Given the description of an element on the screen output the (x, y) to click on. 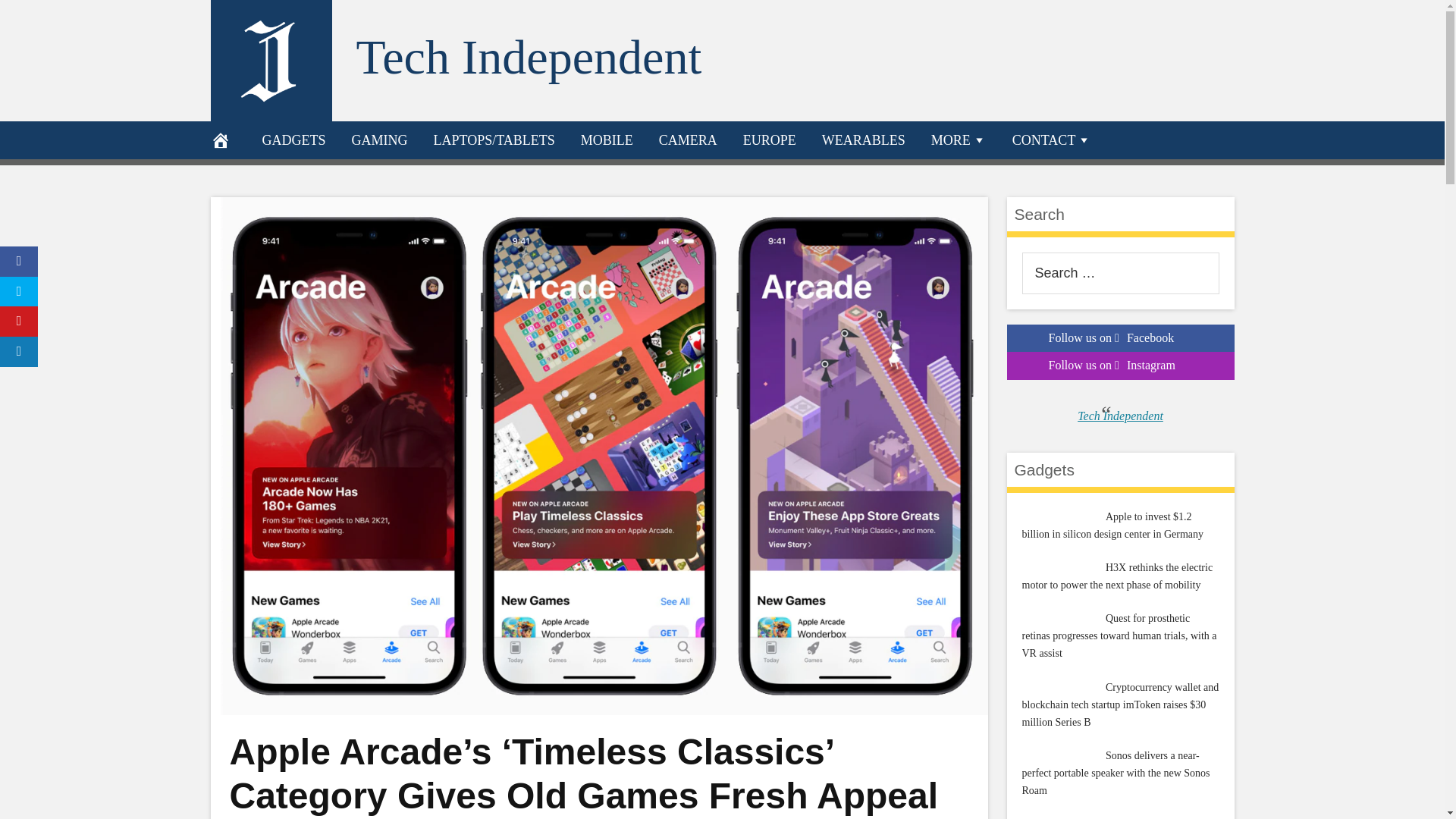
CAMERA (688, 139)
GAMING (378, 139)
EUROPE (769, 139)
WEARABLES (863, 139)
MORE (958, 139)
Tech Independent (528, 57)
MOBILE (606, 139)
GADGETS (292, 139)
